Given the description of an element on the screen output the (x, y) to click on. 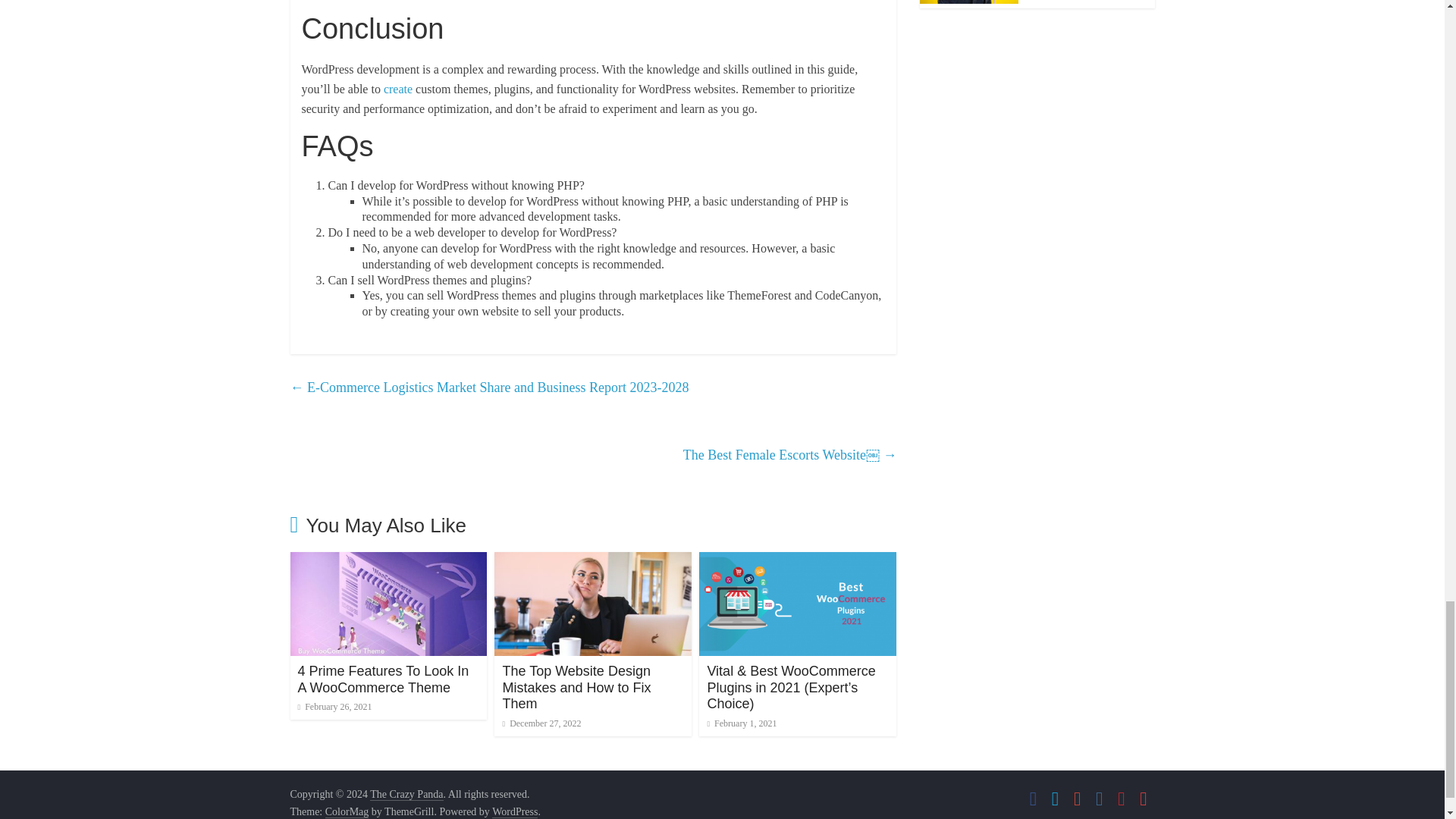
The Top Website Design Mistakes and How to Fix Them (576, 687)
February 1, 2021 (741, 723)
The Top Website Design Mistakes and How to Fix Them (576, 687)
4 Prime Features To Look In A WooCommerce Theme (382, 679)
February 26, 2021 (334, 706)
4 Prime Features To Look In A WooCommerce Theme (387, 561)
6:18 am (741, 723)
6:00 am (334, 706)
4 Prime Features To Look In A WooCommerce Theme (382, 679)
December 27, 2022 (541, 723)
